Given the description of an element on the screen output the (x, y) to click on. 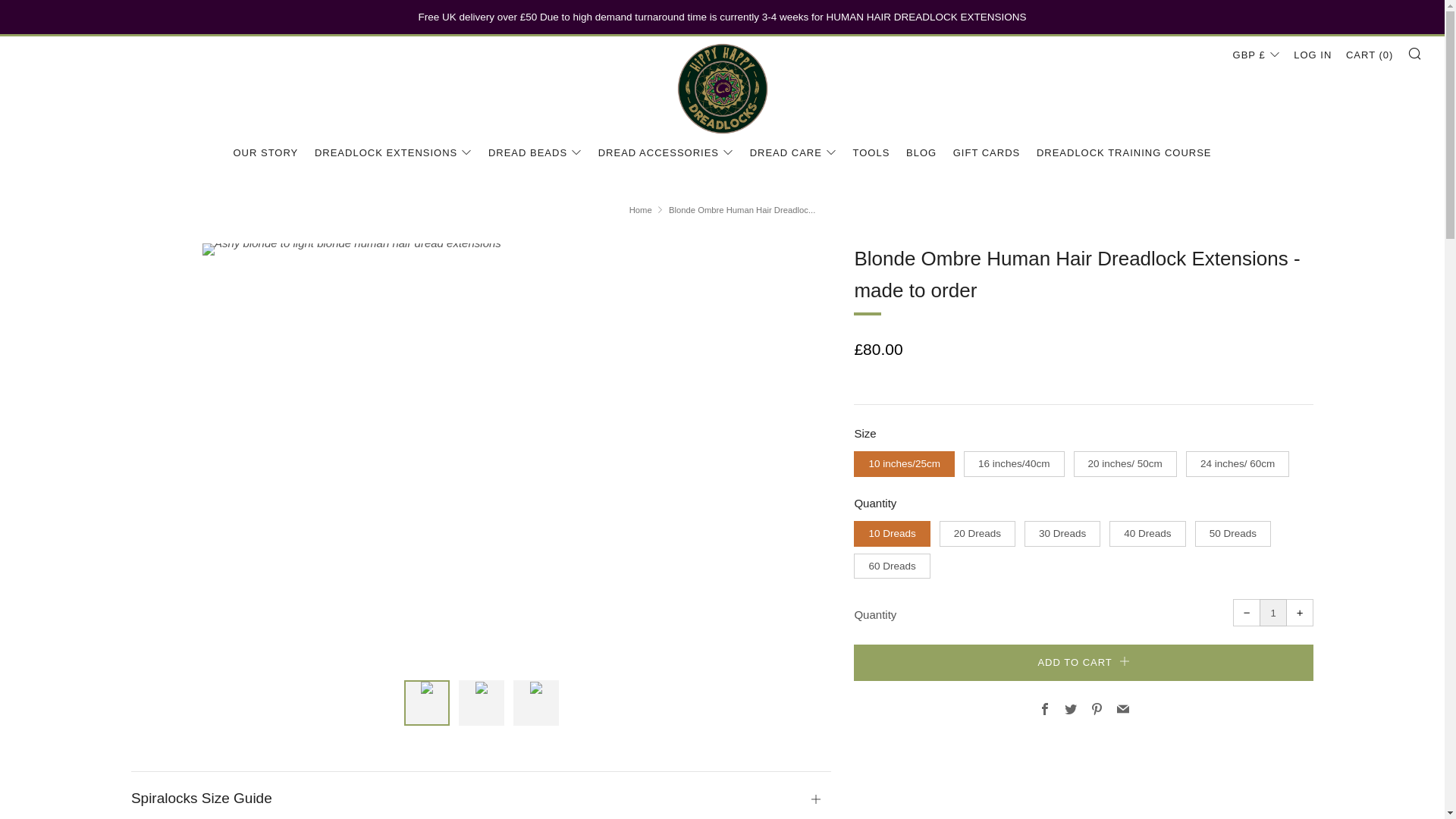
Home (640, 209)
1 (1273, 612)
